Given the description of an element on the screen output the (x, y) to click on. 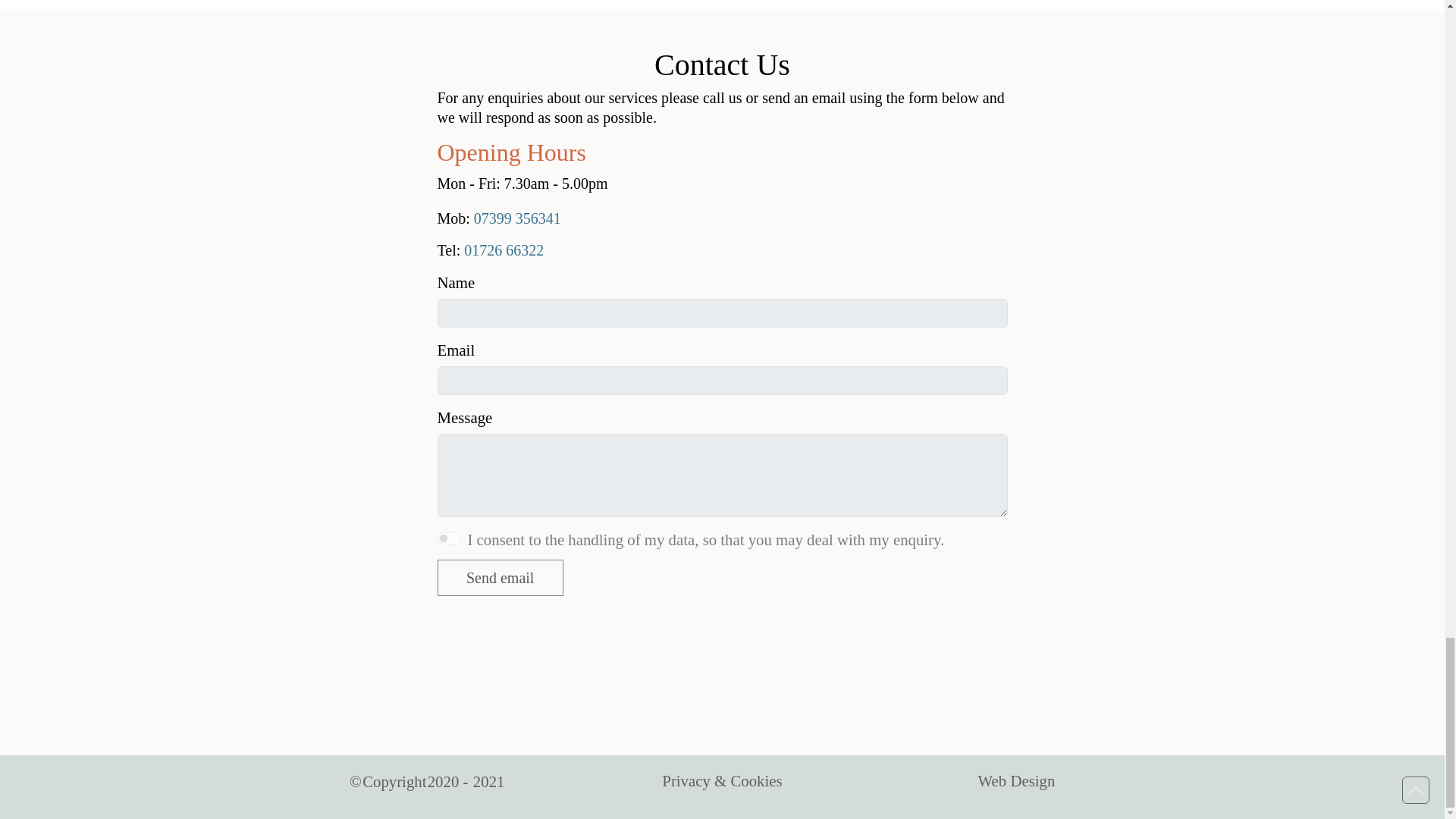
07399 356341 (517, 217)
on (448, 538)
Web Design (1016, 780)
01726 66322 (503, 249)
Send email (499, 577)
